Given the description of an element on the screen output the (x, y) to click on. 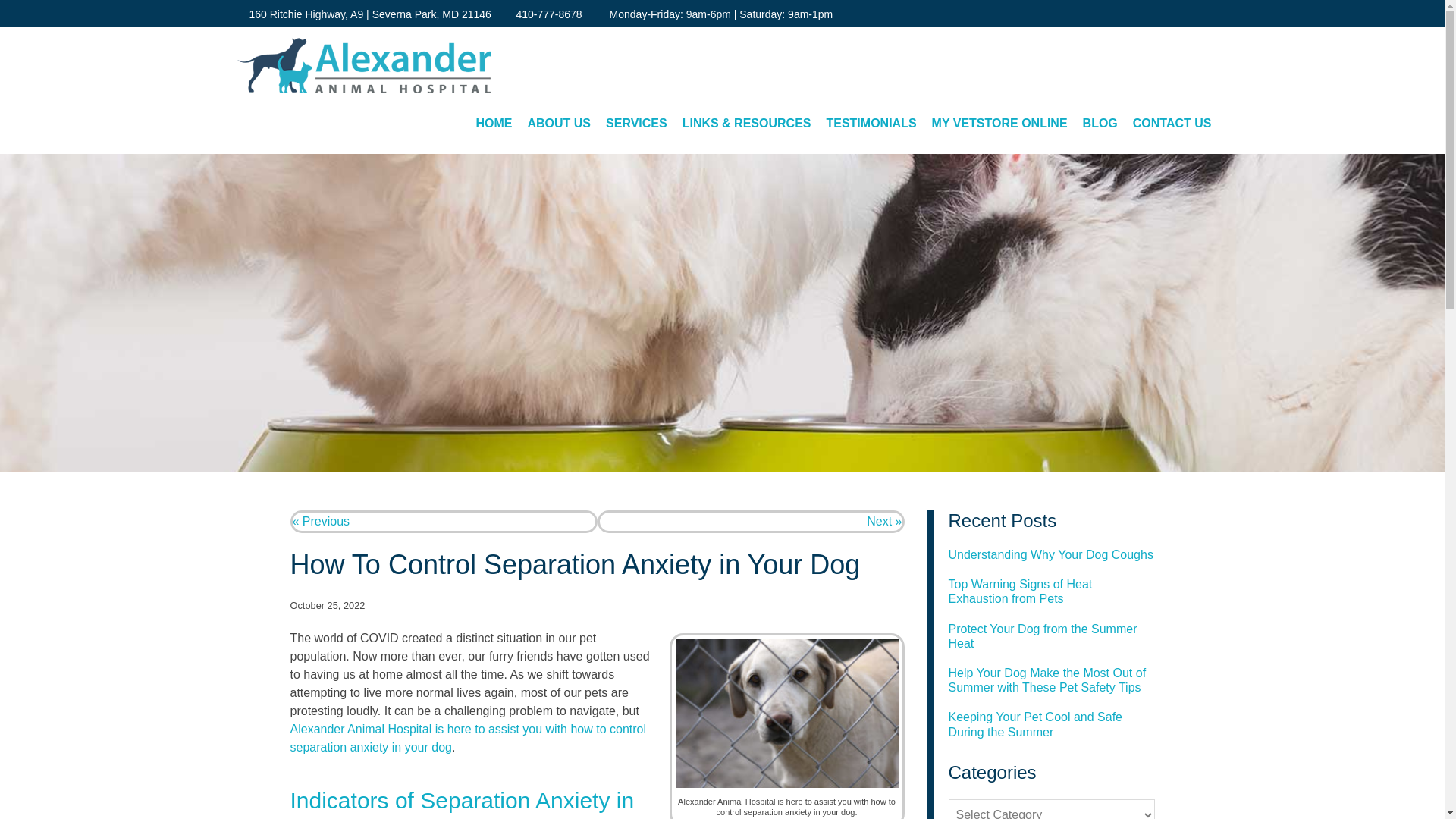
Alexander Animal Hospital (362, 65)
SERVICES (636, 123)
BLOG (1100, 123)
HOME (493, 123)
CONTACT US (1172, 123)
TESTIMONIALS (870, 123)
MY VETSTORE ONLINE (999, 123)
ABOUT US (558, 123)
